Given the description of an element on the screen output the (x, y) to click on. 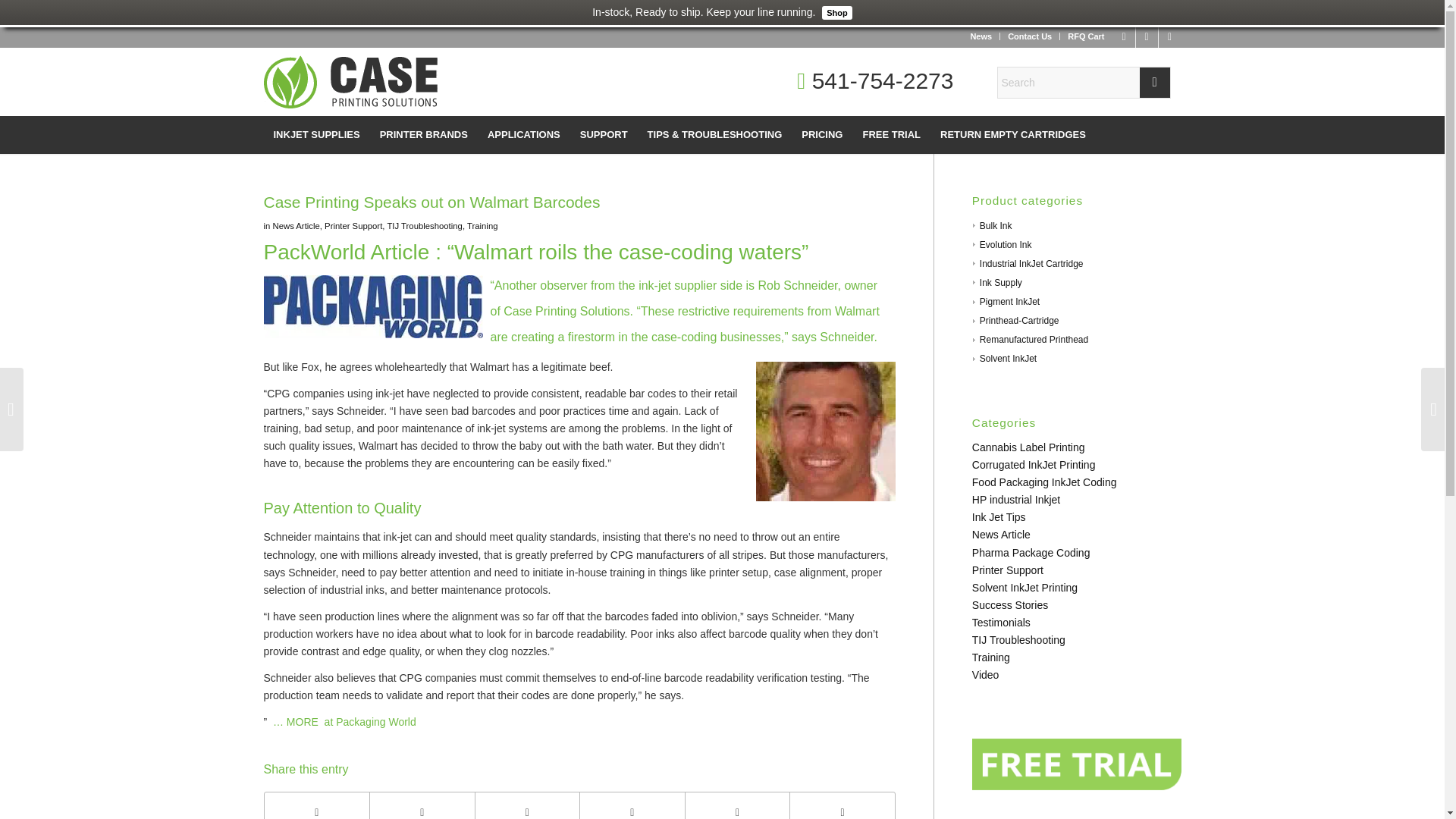
RFQ Cart (1085, 35)
INKJET SUPPLIES (316, 134)
CPSLogoold (350, 89)
541-754-2273 (874, 81)
News (980, 35)
Contact Us (1029, 35)
Youtube (1169, 36)
Click to start search (1153, 82)
LinkedIn (1146, 36)
PRINTER BRANDS (423, 134)
Shop (834, 11)
Facebook (1124, 36)
APPLICATIONS (523, 134)
CPSLogoold (350, 81)
